Given the description of an element on the screen output the (x, y) to click on. 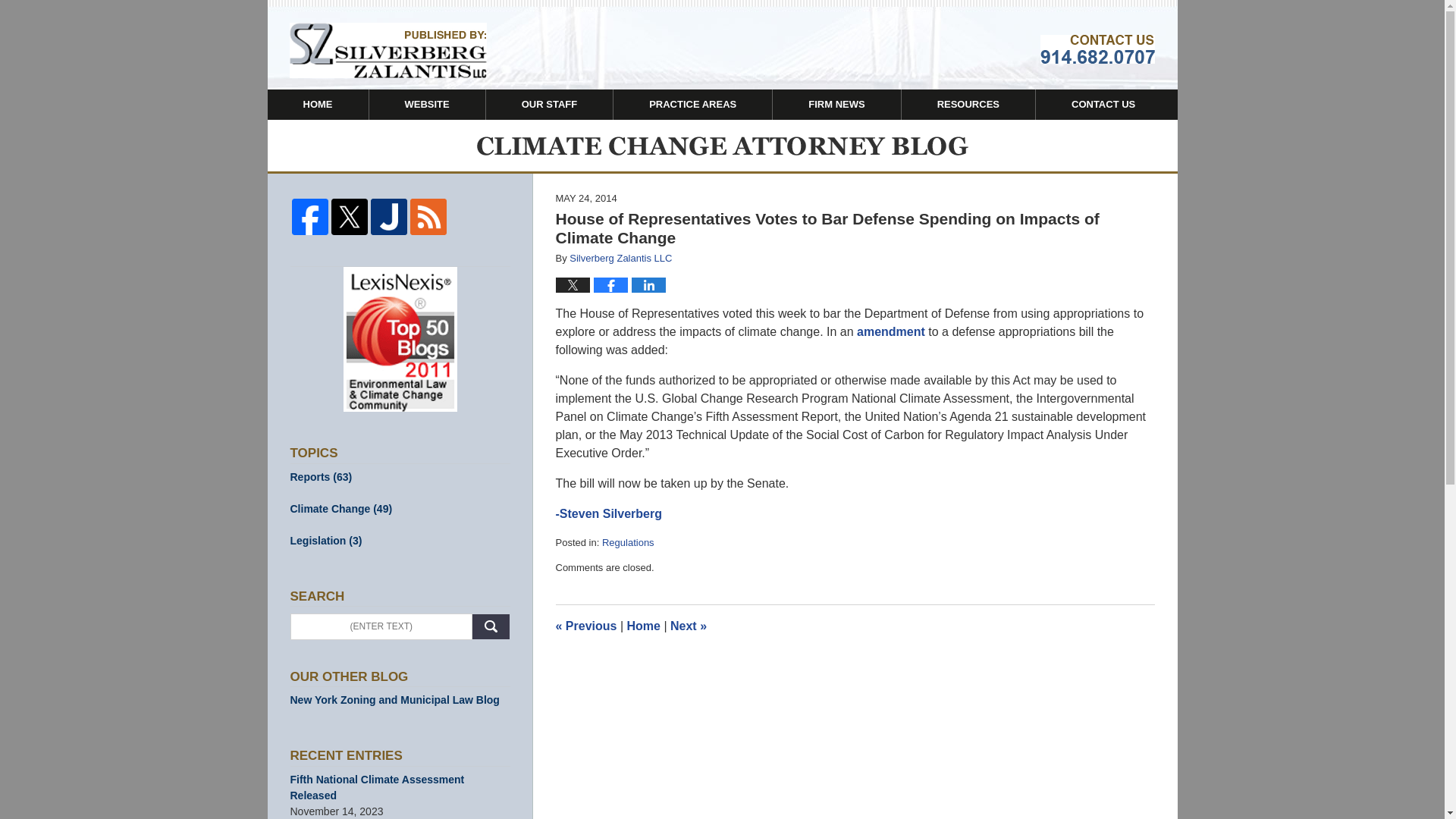
PRACTICE AREAS (691, 104)
Fifth National Climate Assessment Released (399, 787)
View all posts in Regulations (627, 542)
Justia (389, 217)
Government Releases Climate Change Viewer (584, 625)
Increased Costs of Delaying Action on Climate Change (687, 625)
Facebook (309, 217)
Feed (428, 217)
SEARCH (490, 626)
FIRM NEWS (836, 104)
-Steven Silverberg (608, 513)
Published By Silverberg Zalantis LLC (1097, 49)
WEBSITE (426, 104)
RESOURCES (968, 104)
Regulations (627, 542)
